Given the description of an element on the screen output the (x, y) to click on. 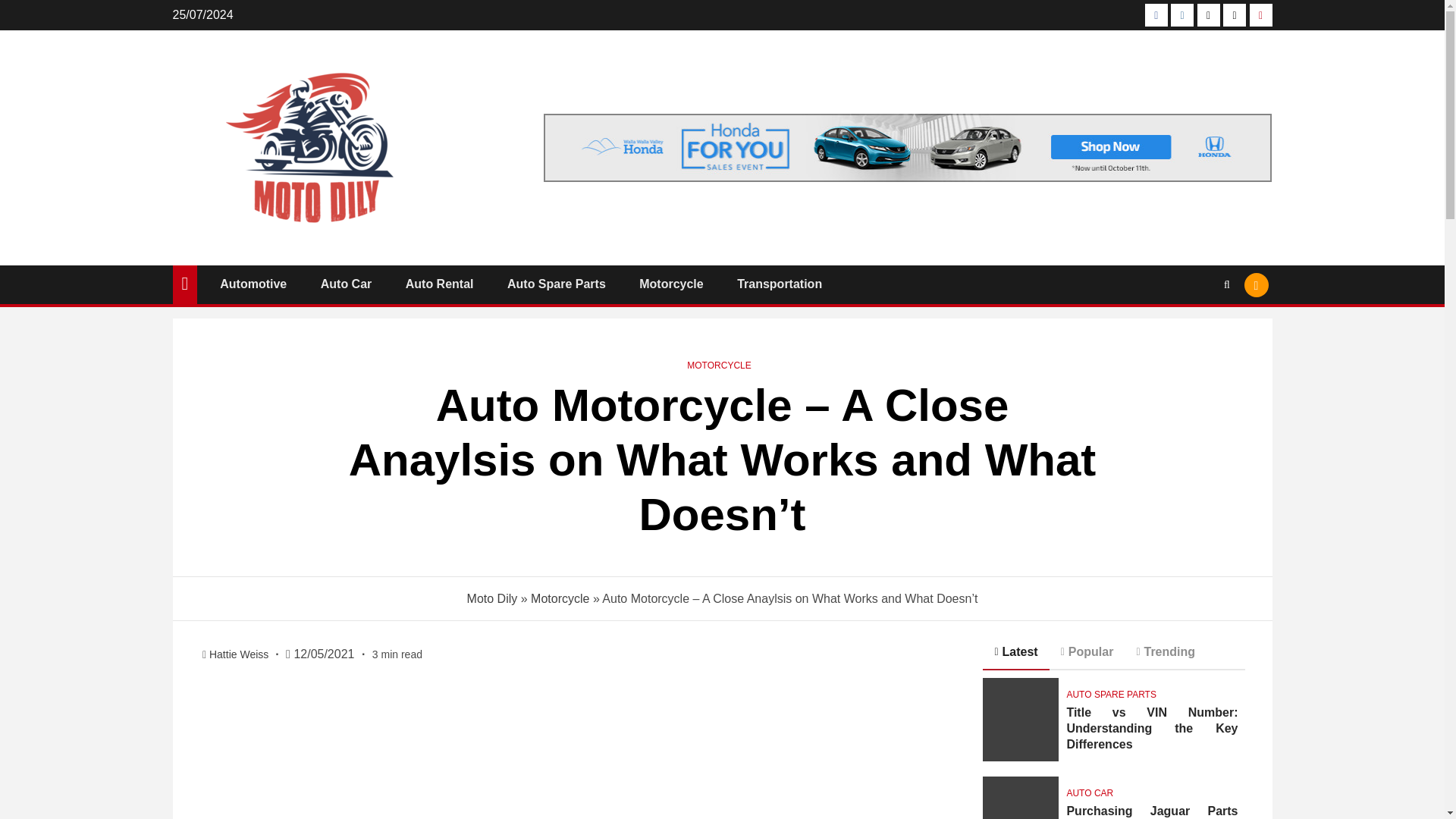
Hattie Weiss (239, 654)
MOTORCYCLE (719, 365)
Title vs VIN Number: Understanding the Key Differences (1020, 719)
Auto Car (346, 283)
Instagram (1181, 15)
Facebook (1155, 15)
Automotive (252, 283)
Auto Spare Parts (555, 283)
Auto Rental (440, 283)
Tiktok (1234, 15)
Moto Dily (492, 598)
Search (1197, 330)
Transportation (779, 283)
Pinterest (1260, 15)
